Given the description of an element on the screen output the (x, y) to click on. 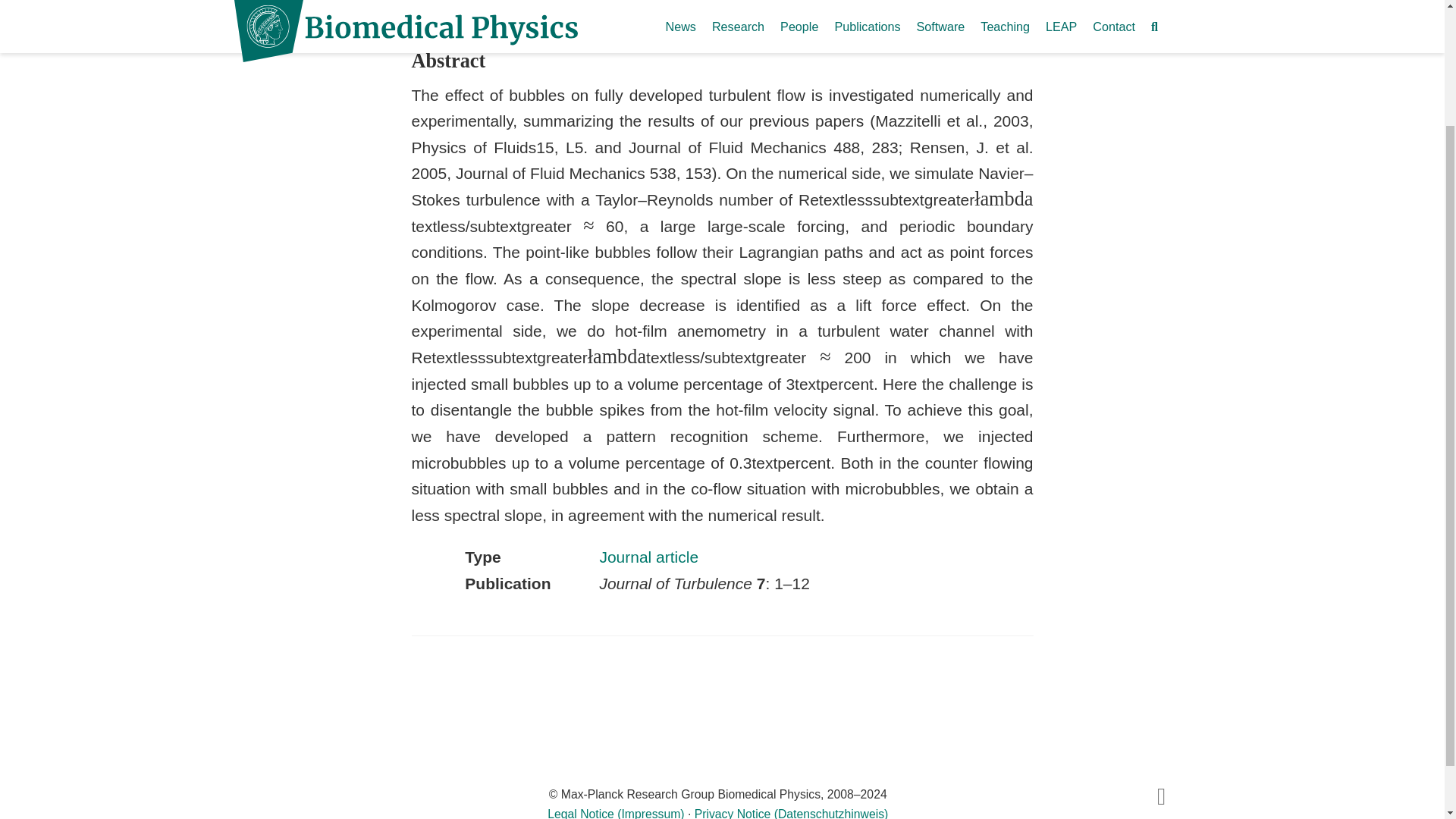
Journal article (648, 556)
Federico Toschi (848, 2)
Judith M. Rensen (758, 2)
Detlef Lohse (926, 2)
Stefan Luther (576, 2)
Thomas H. van den Berg (472, 2)
Irene M. Mazzitelli (661, 2)
